Given the description of an element on the screen output the (x, y) to click on. 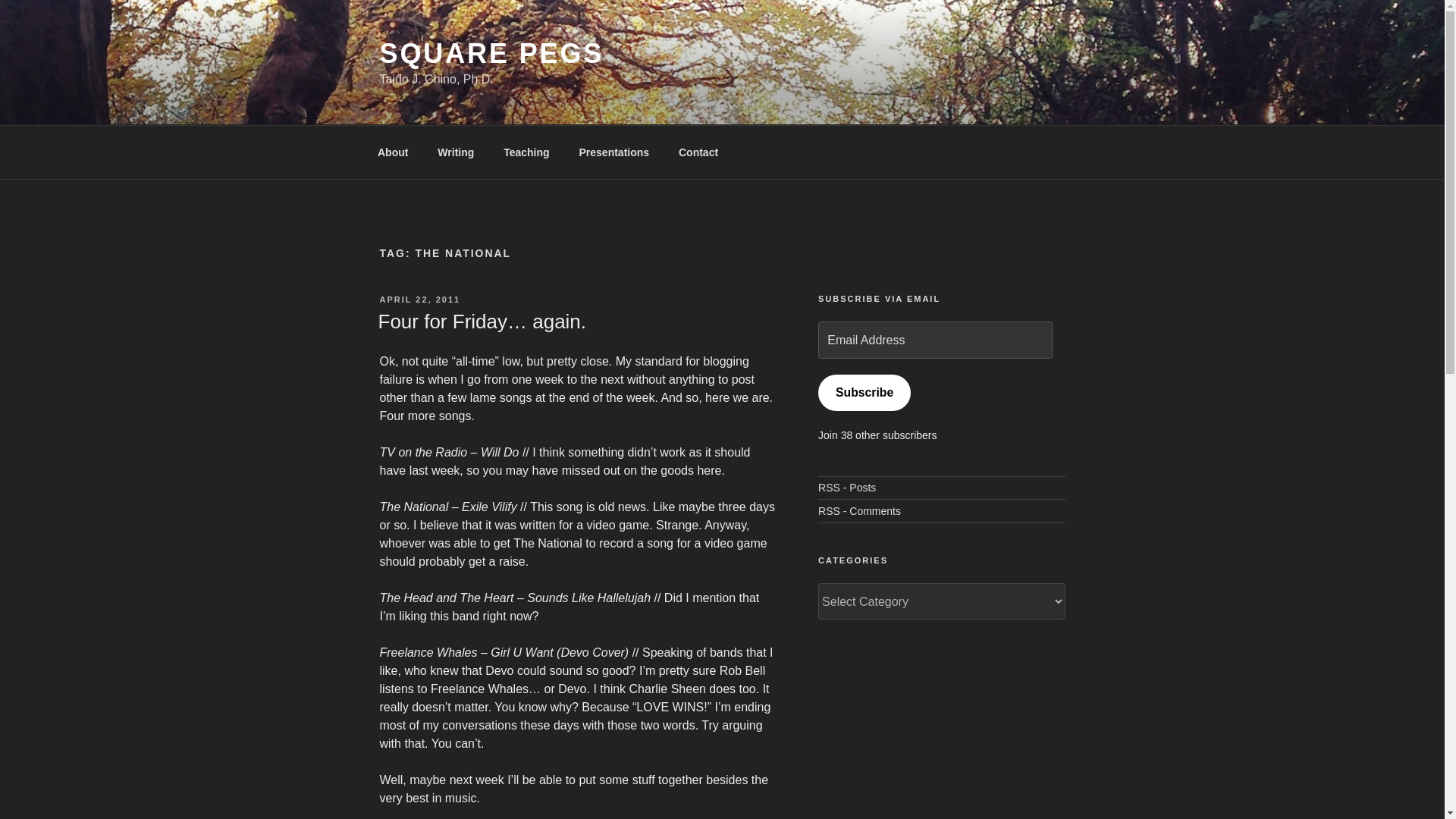
APRIL 22, 2011 (419, 298)
Presentations (614, 151)
Subscribe (864, 392)
Teaching (526, 151)
Subscribe to comments (859, 510)
RSS - Posts (847, 487)
Contact (697, 151)
About (392, 151)
SQUARE PEGS (491, 52)
Subscribe to posts (847, 487)
RSS - Comments (859, 510)
Writing (456, 151)
